Given the description of an element on the screen output the (x, y) to click on. 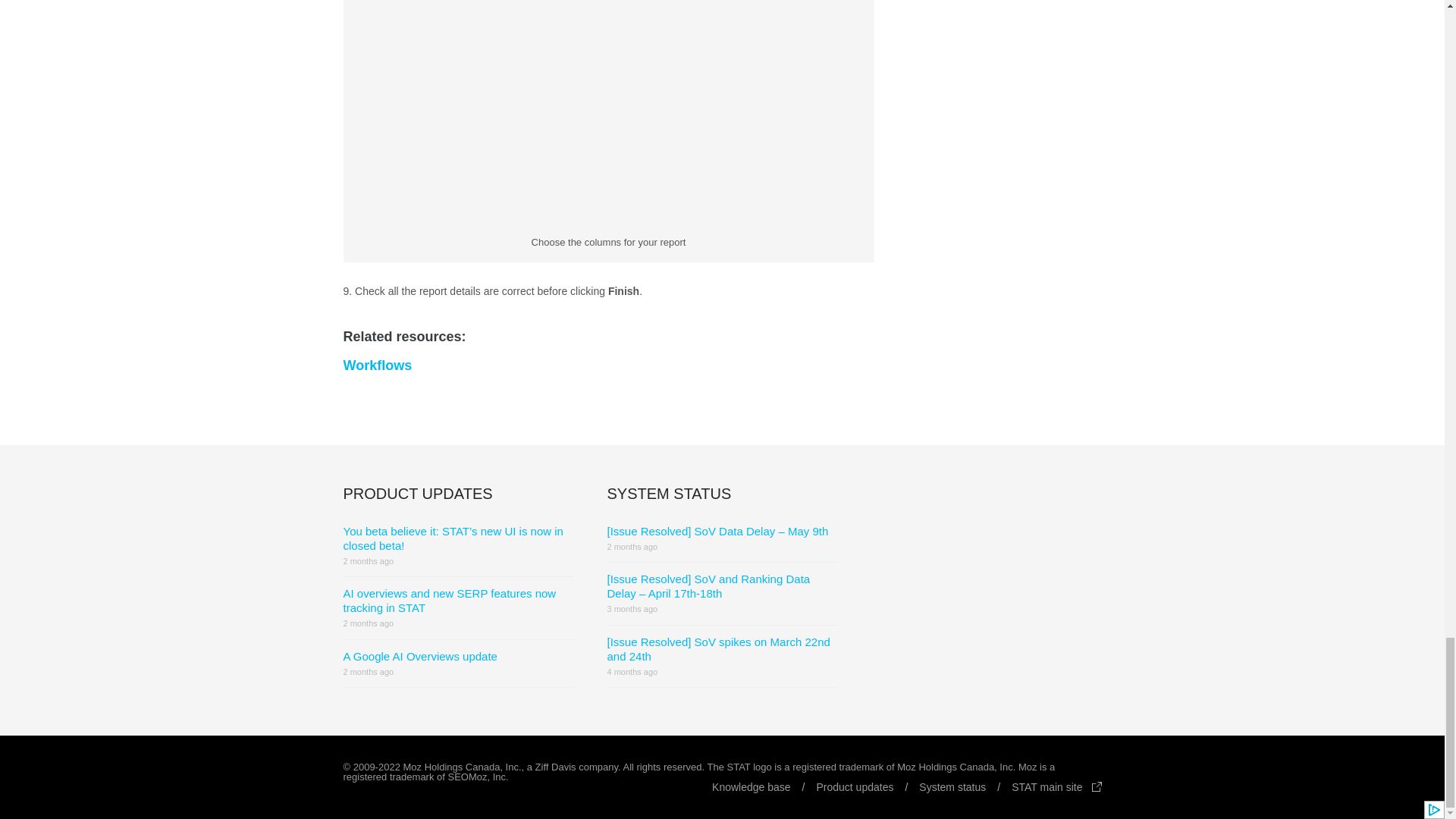
System status (964, 787)
AI overviews and new SERP features now tracking in STAT (449, 600)
Product updates (866, 787)
STAT main site (1055, 787)
A Google AI Overviews update (419, 656)
System status (964, 787)
New features (866, 787)
Knowledge base (763, 787)
Workflows (377, 365)
